Given the description of an element on the screen output the (x, y) to click on. 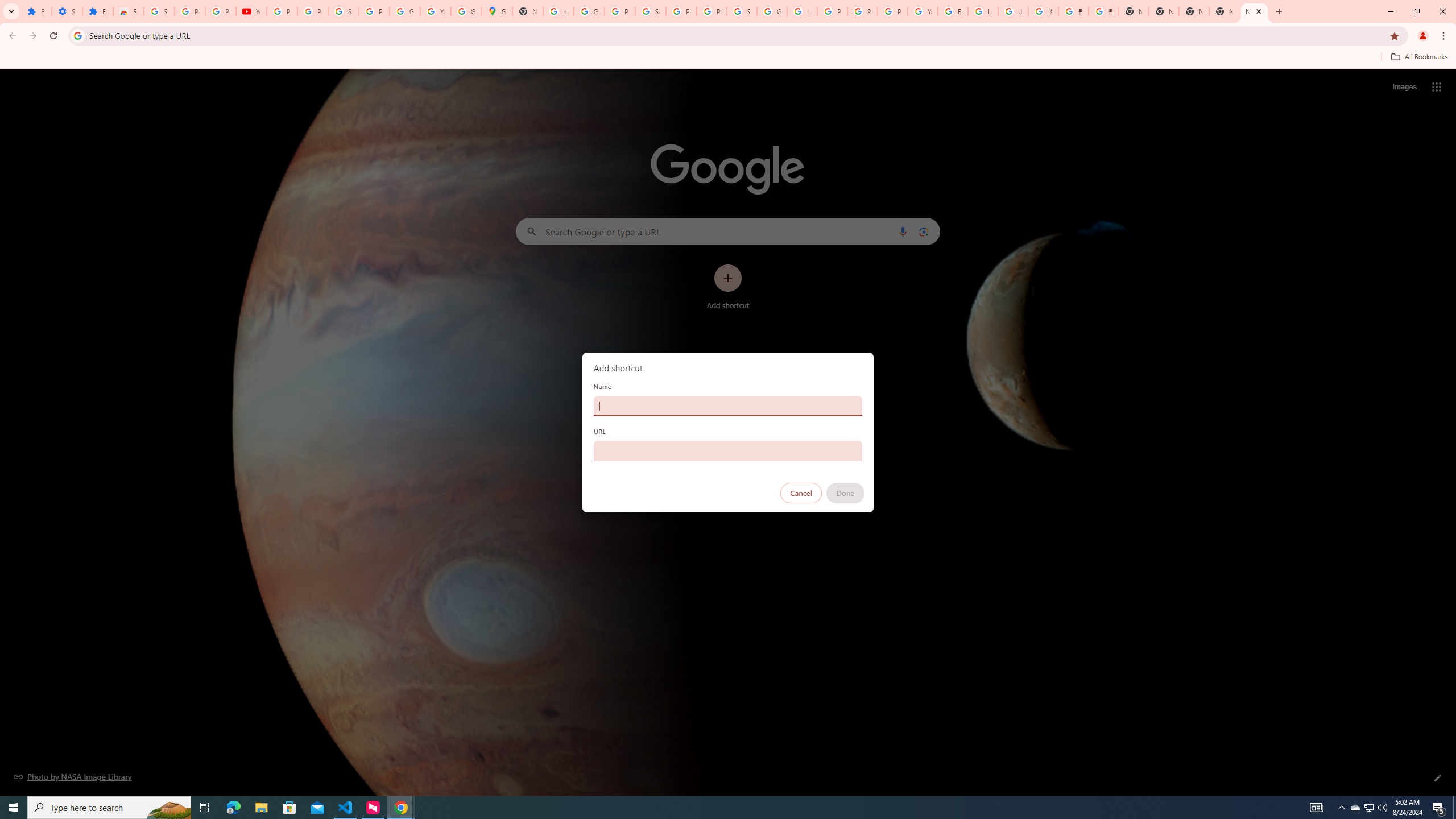
Extensions (97, 11)
Privacy Help Center - Policies Help (862, 11)
